Given the description of an element on the screen output the (x, y) to click on. 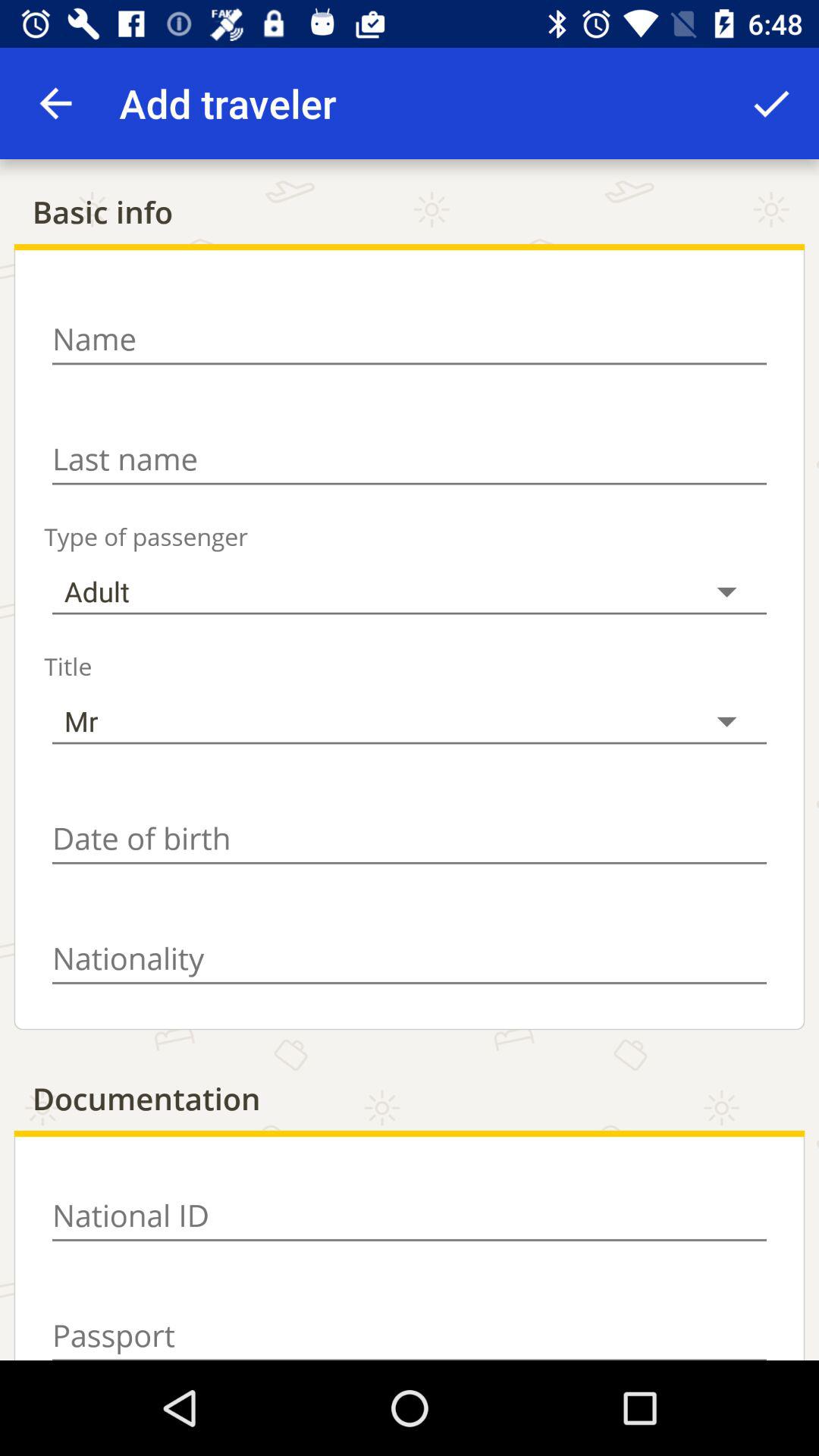
turn off the app next to the add traveler (771, 103)
